Given the description of an element on the screen output the (x, y) to click on. 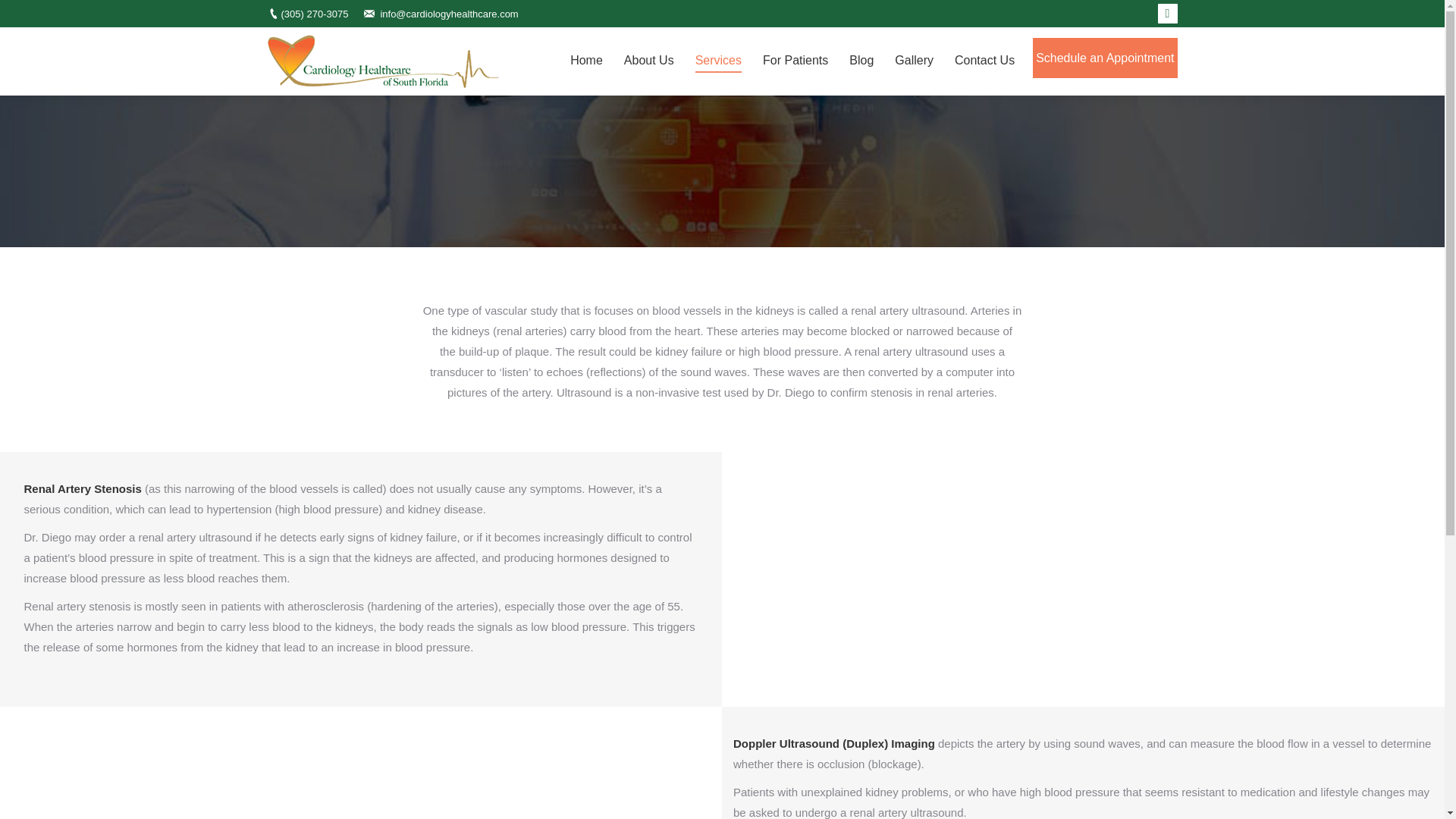
Facebook (1167, 13)
Services (718, 60)
About Us (649, 60)
Facebook (1167, 13)
